Given the description of an element on the screen output the (x, y) to click on. 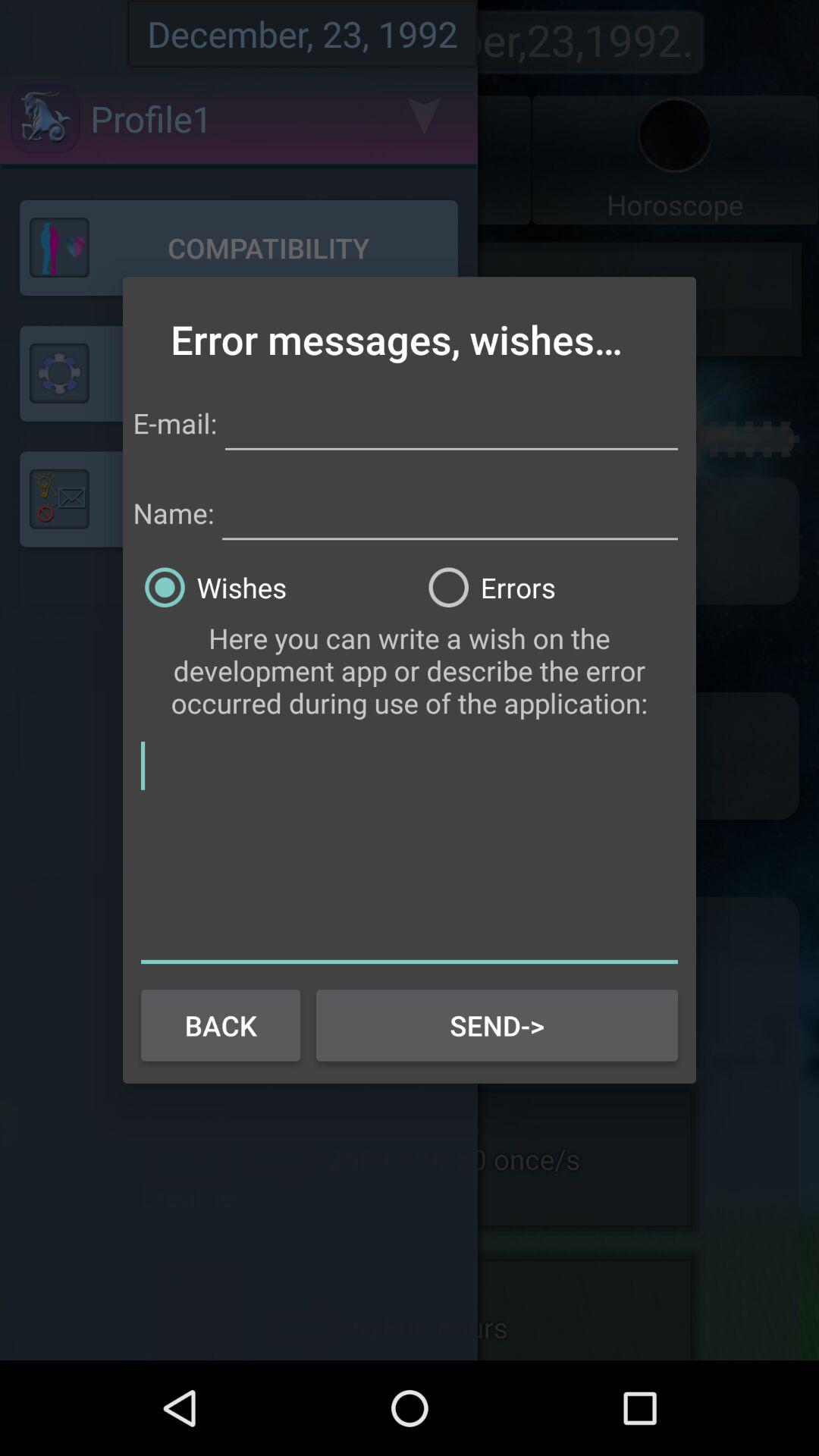
choose the send-> item (496, 1025)
